Given the description of an element on the screen output the (x, y) to click on. 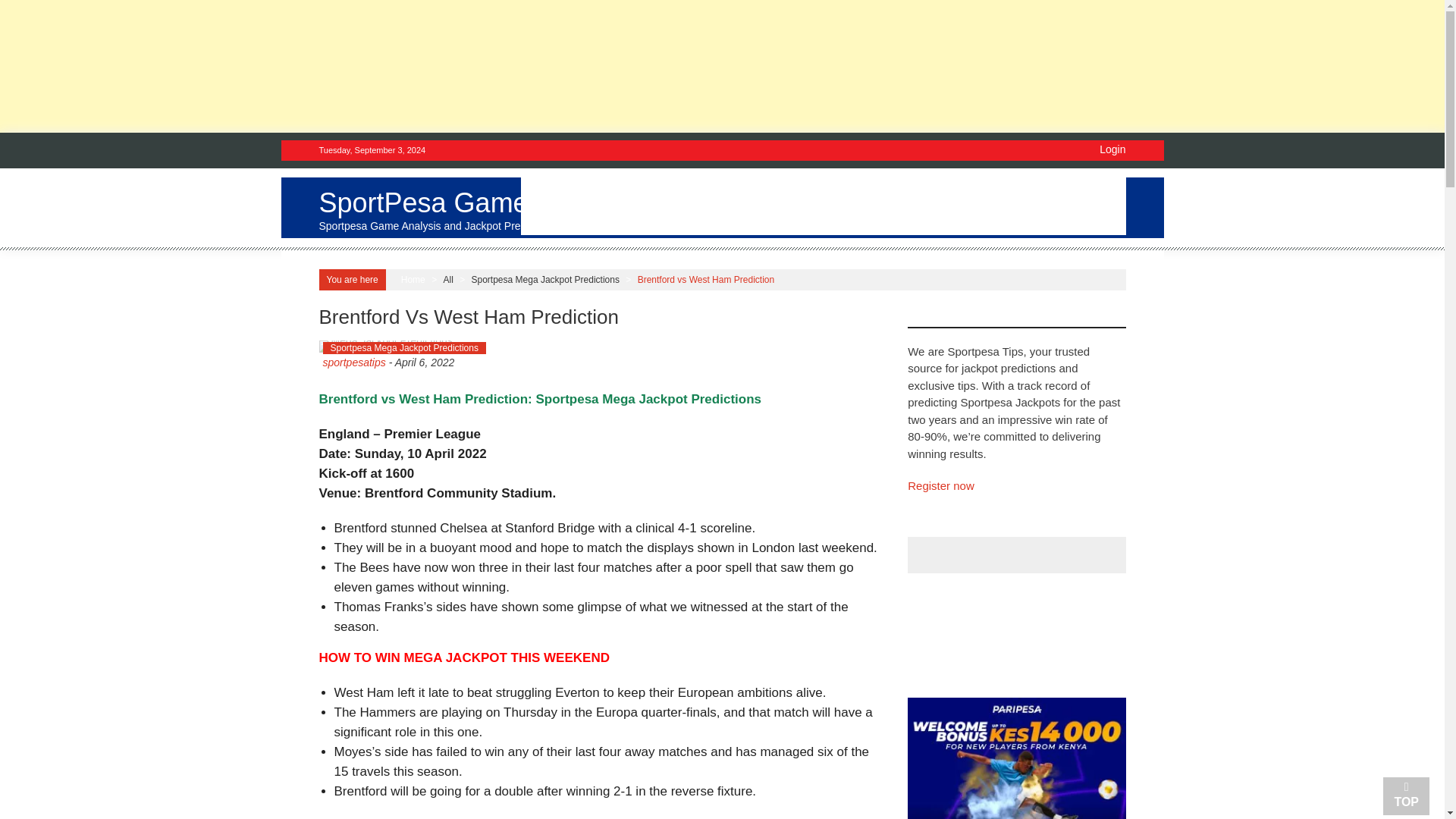
FREE TIPS (737, 215)
Register now (940, 485)
Sportpesa Mega Jackpot Predictions (404, 347)
TOP (1405, 794)
Login (1112, 149)
RESULTS (940, 215)
Sportpesa Mega Jackpot Predictions (545, 279)
All (447, 279)
CONTACT (563, 294)
HOW TO WIN MEGA JACKPOT THIS WEEKEND (463, 657)
